Given the description of an element on the screen output the (x, y) to click on. 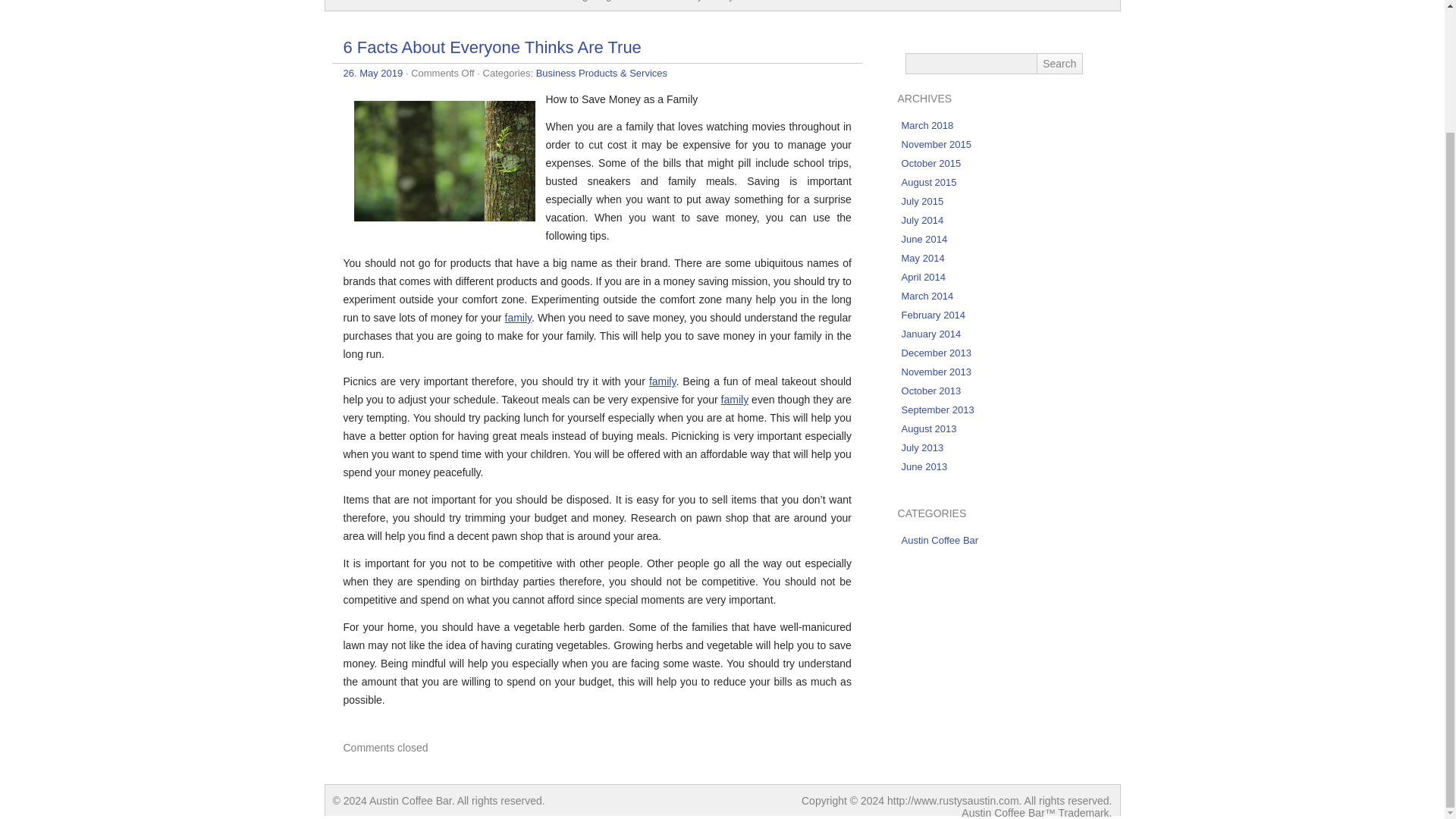
February 2014 (933, 315)
November 2013 (936, 371)
family (663, 381)
6 Facts About Everyone Thinks Are True (491, 46)
September 2013 (937, 409)
Privacy Policy (700, 4)
Search (1058, 63)
Austin Coffee Bar (376, 4)
July 2014 (922, 220)
August 2013 (928, 428)
